Given the description of an element on the screen output the (x, y) to click on. 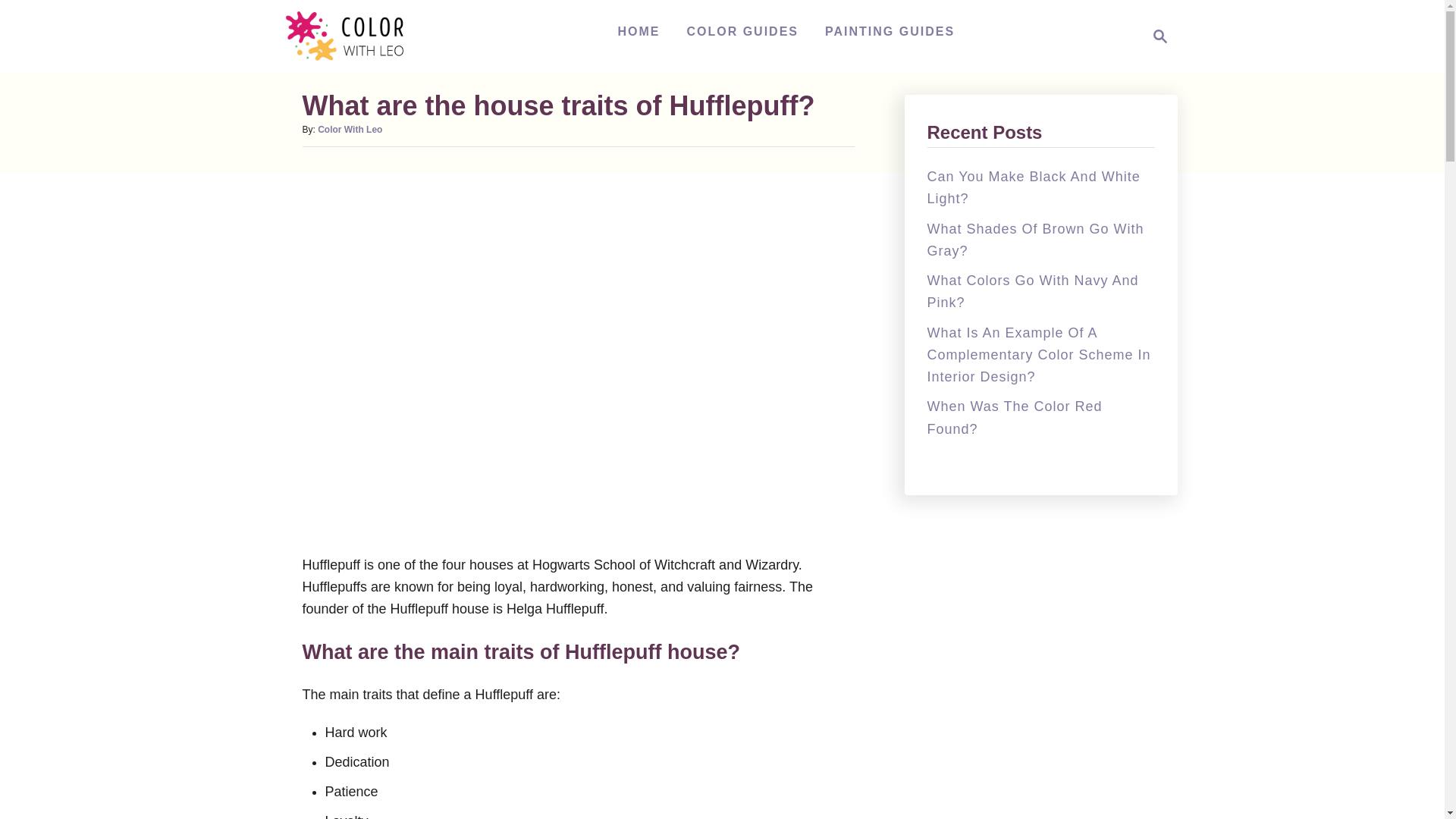
When Was The Color Red Found? (1014, 416)
What Colors Go With Navy And Pink? (1032, 291)
Can You Make Black And White Light? (1033, 187)
What Shades Of Brown Go With Gray? (1034, 239)
Color With Leo (353, 35)
COLOR GUIDES (742, 31)
HOME (638, 31)
PAINTING GUIDES (889, 31)
